Given the description of an element on the screen output the (x, y) to click on. 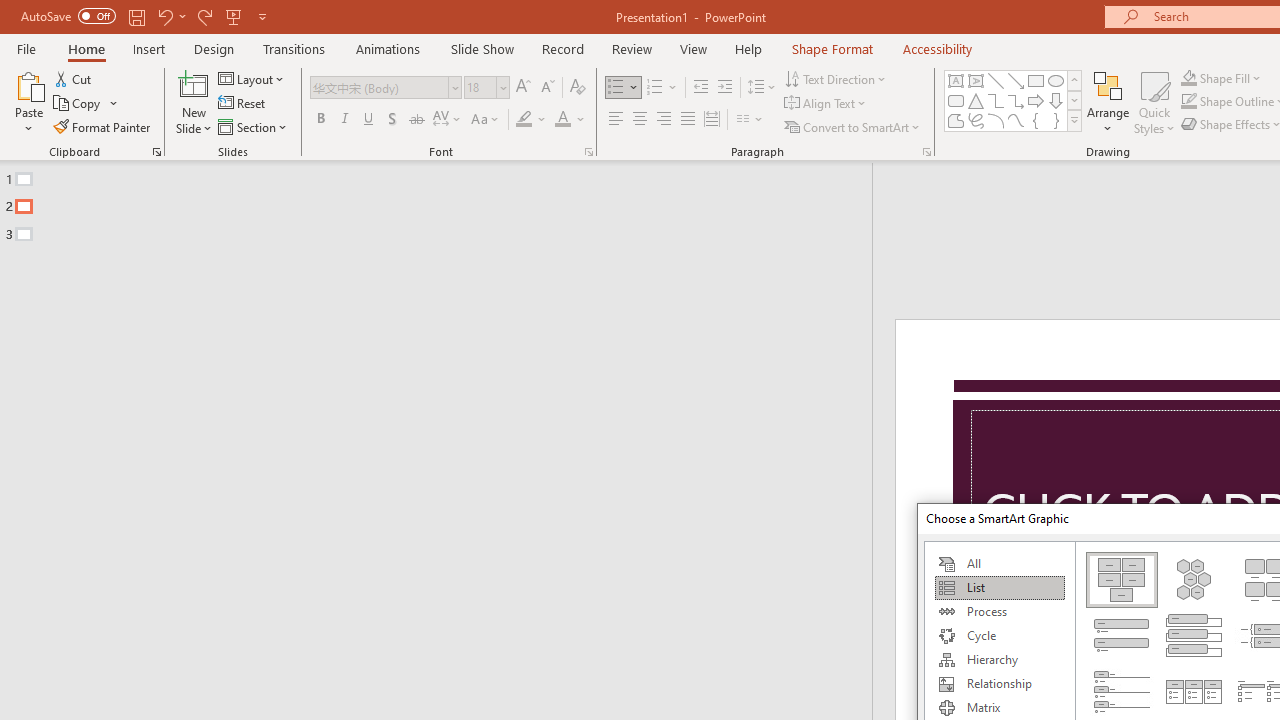
Font (385, 87)
Left Brace (1035, 120)
Distributed (712, 119)
Vertical Bullet List (1121, 635)
AutomationID: ShapesInsertGallery (1014, 100)
Redo (204, 15)
Shape Format (832, 48)
Paste (28, 84)
Reset (243, 103)
Insert (149, 48)
Convert to SmartArt (853, 126)
Rectangle (1035, 80)
Curve (1016, 120)
Change Case (486, 119)
Alternating Hexagons (1194, 579)
